Given the description of an element on the screen output the (x, y) to click on. 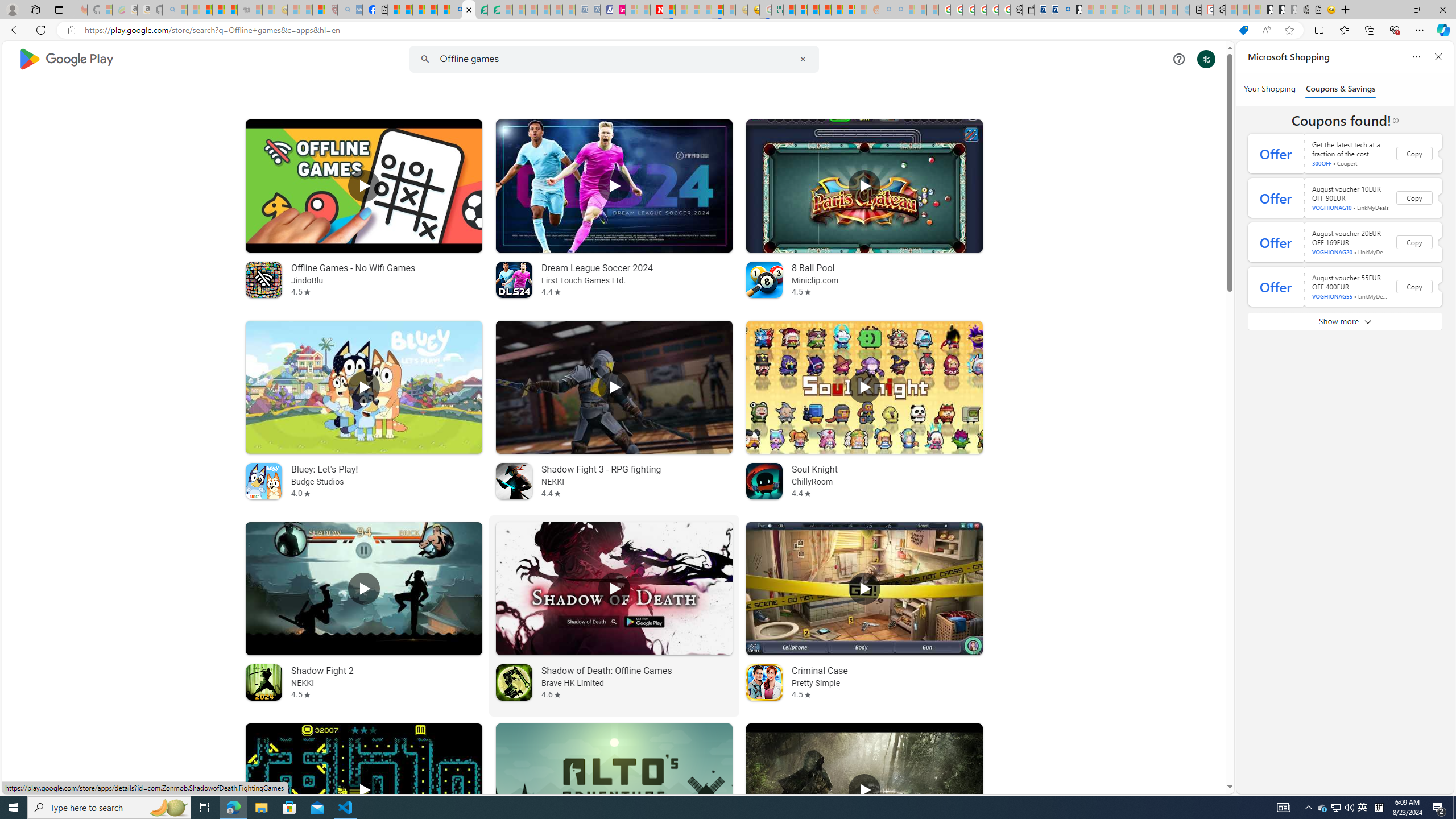
Terms of Use Agreement (481, 9)
Help Center (1178, 58)
Address and search bar (658, 29)
Robert H. Shmerling, MD - Harvard Health - Sleeping (331, 9)
This site has coupons! Shopping in Microsoft Edge (1243, 29)
